Given the description of an element on the screen output the (x, y) to click on. 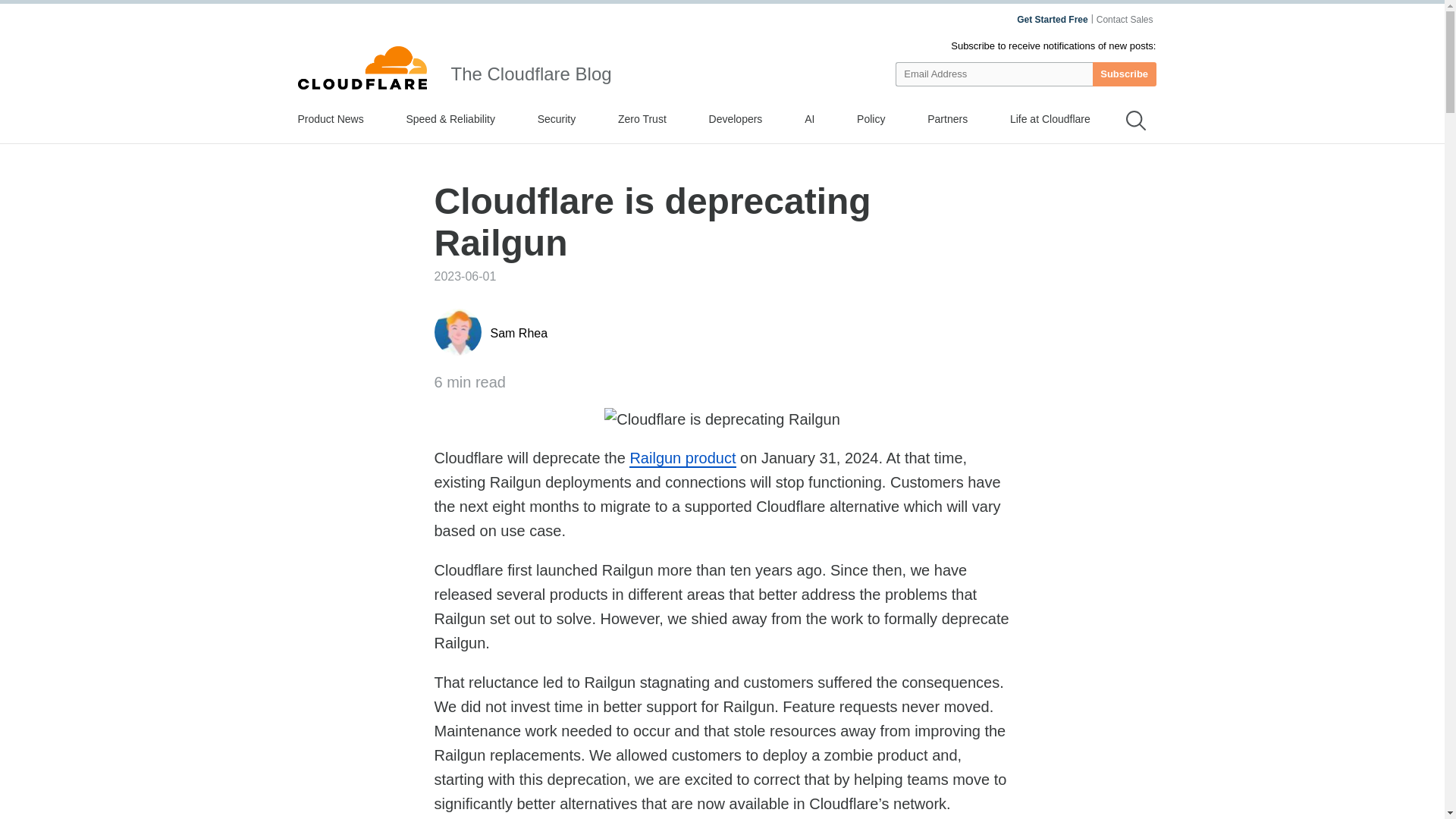
Product News (329, 118)
Contact Sales (1126, 19)
Sam Rhea (518, 332)
Railgun product (681, 458)
The Cloudflare Blog (530, 73)
Zero Trust (641, 118)
Get Started Free (1051, 19)
Security (556, 118)
Developers (735, 118)
Life at Cloudflare (1050, 118)
